Given the description of an element on the screen output the (x, y) to click on. 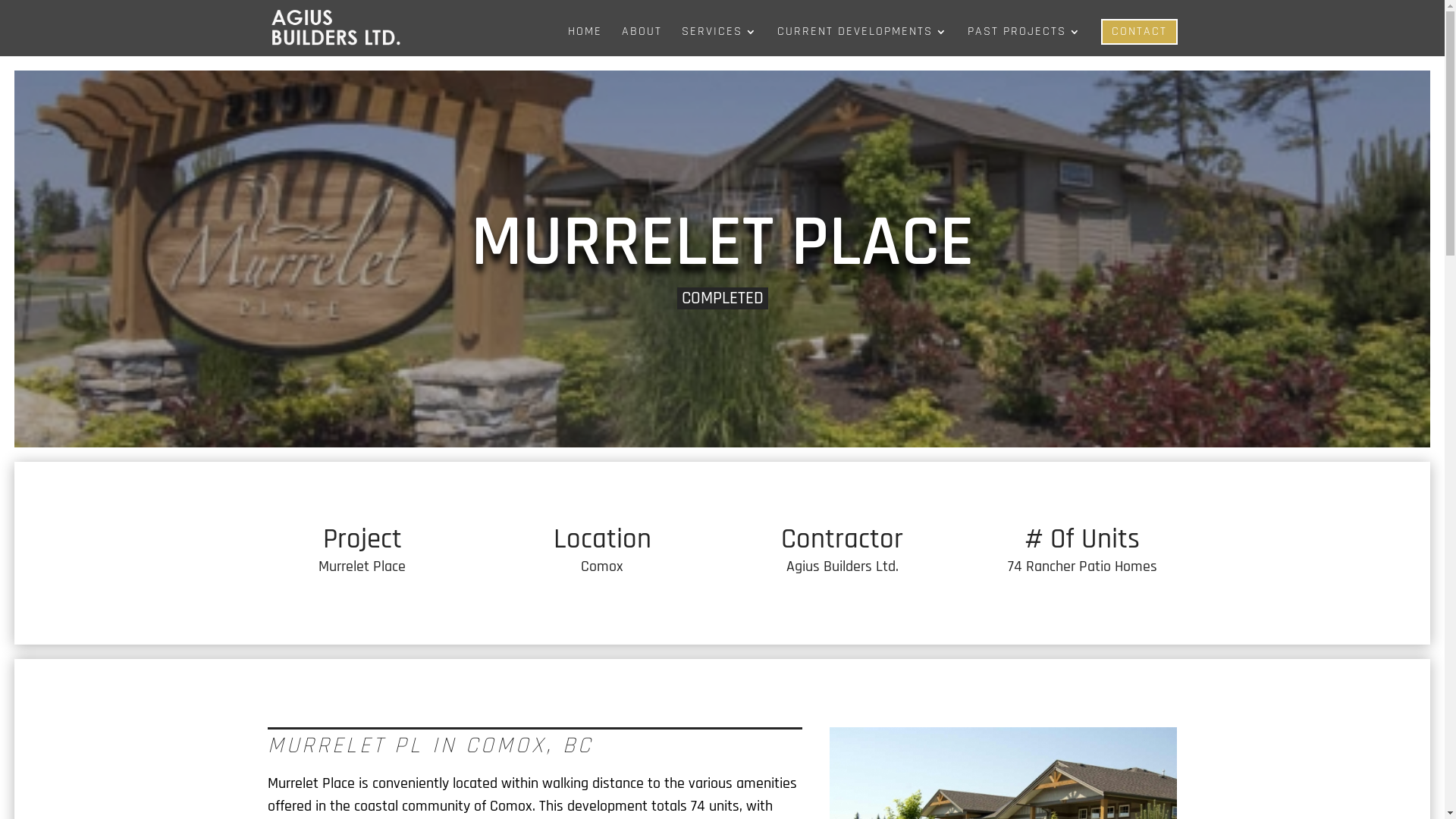
ABOUT Element type: text (641, 41)
PAST PROJECTS Element type: text (1024, 41)
CURRENT DEVELOPMENTS Element type: text (861, 41)
HOME Element type: text (584, 41)
SERVICES Element type: text (718, 41)
CONTACT Element type: text (1139, 31)
